Given the description of an element on the screen output the (x, y) to click on. 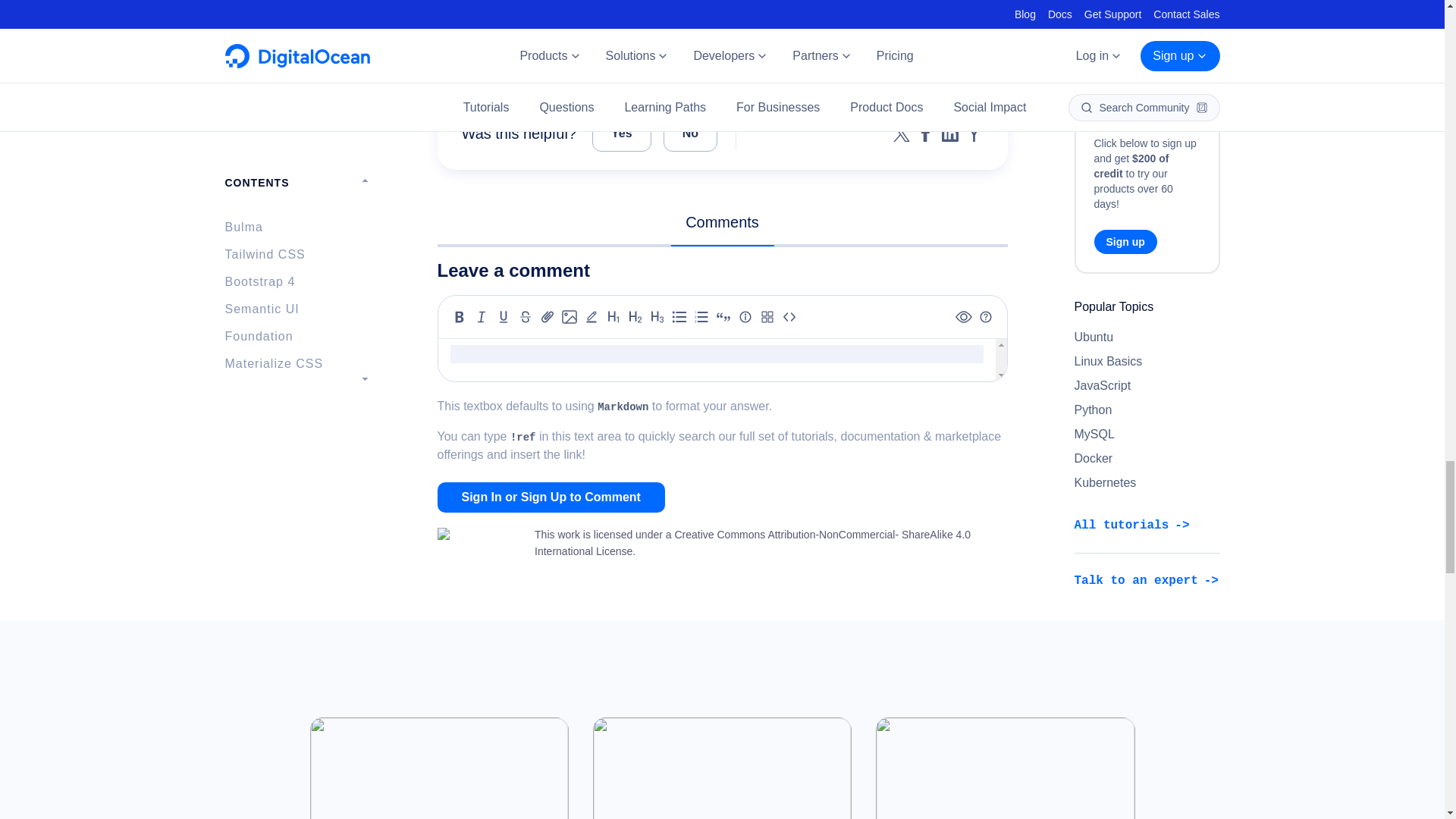
Unordered list (678, 316)
Underline (503, 316)
Strikethrough (524, 316)
Share to LinkedIn (949, 133)
Bold (458, 316)
Italic (480, 316)
Share to YCombinator (972, 133)
Heading 3 (656, 316)
Link (547, 316)
Heading 2 (635, 316)
